Given the description of an element on the screen output the (x, y) to click on. 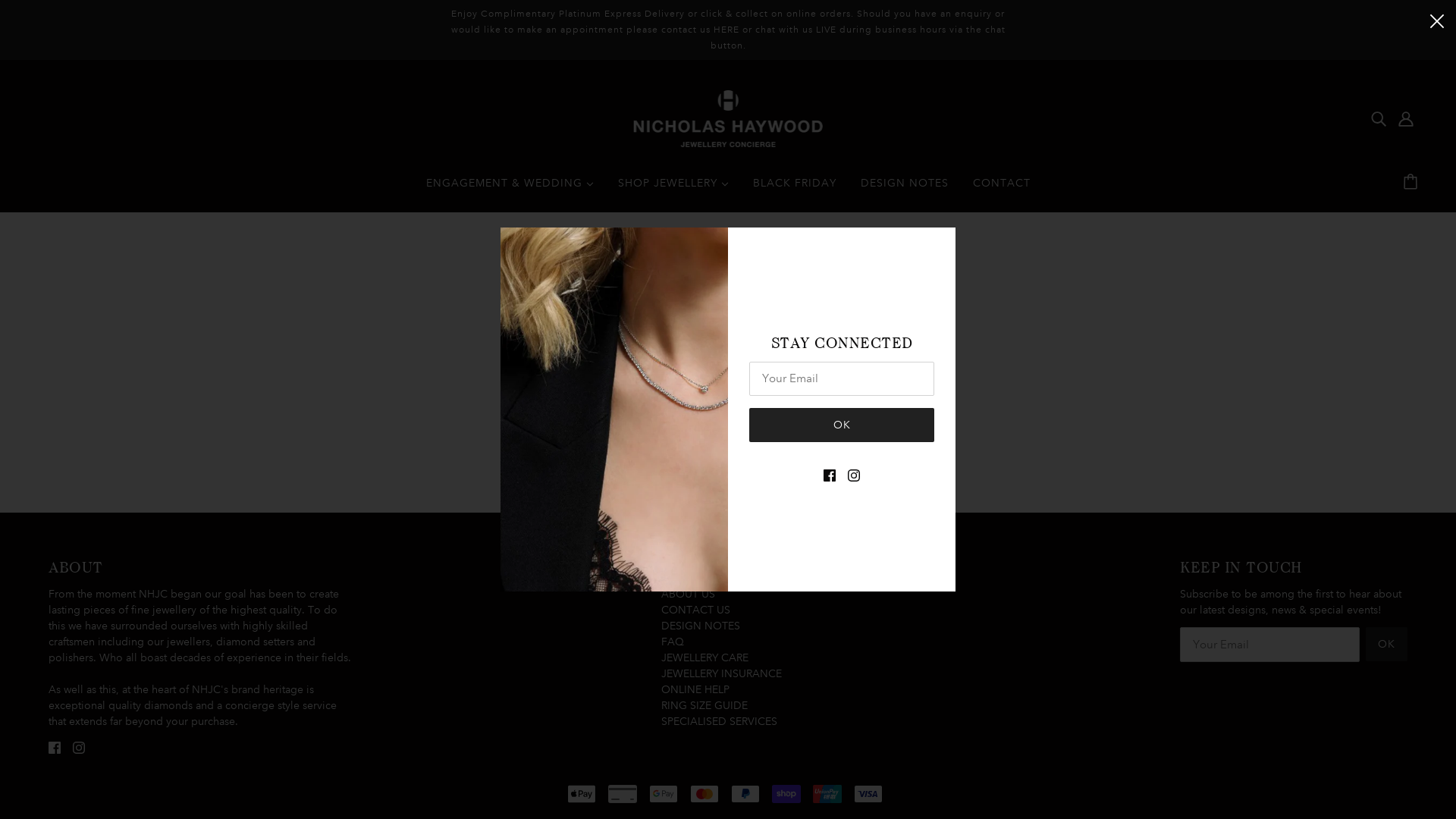
JEWELLERY CARE Element type: text (704, 657)
OK Element type: text (841, 424)
OK Element type: text (1386, 644)
CONTACT US Element type: text (695, 609)
JEWELLERY INSURANCE Element type: text (721, 673)
Nicholas Haywood Jewellery Concierge Element type: hover (727, 117)
BLACK FRIDAY Element type: text (793, 188)
DESIGN NOTES Element type: text (903, 188)
ENGAGEMENT & WEDDING Element type: text (509, 188)
Home page Element type: text (689, 412)
RING SIZE GUIDE Element type: text (704, 705)
SPECIALISED SERVICES Element type: text (719, 721)
FAQ Element type: text (672, 641)
SHOP JEWELLERY Element type: text (672, 188)
ABOUT US Element type: text (688, 593)
DESIGN NOTES Element type: text (700, 625)
ONLINE HELP Element type: text (695, 689)
CONTACT Element type: text (1000, 188)
products Element type: text (846, 412)
